Given the description of an element on the screen output the (x, y) to click on. 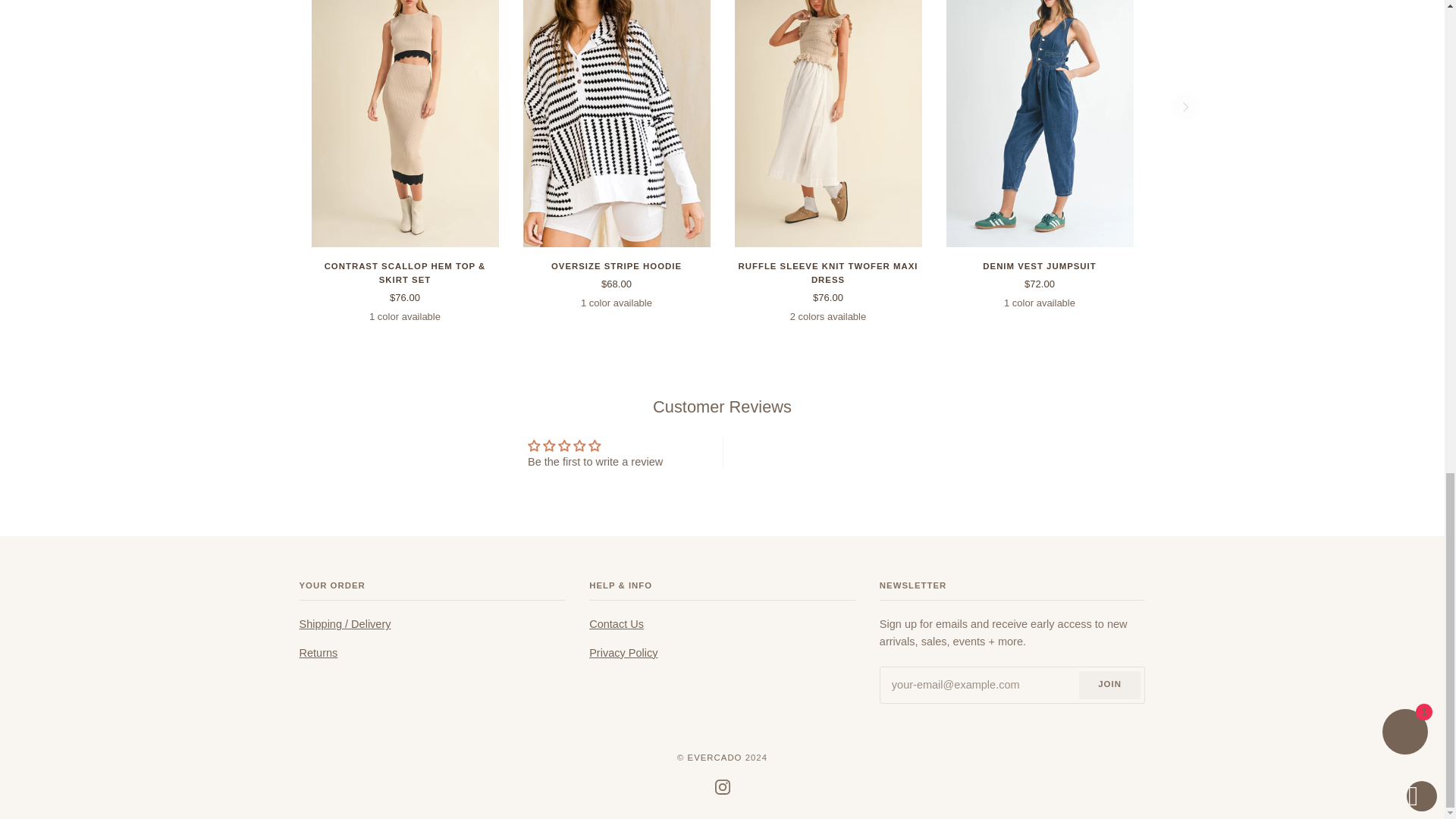
Instagram (721, 786)
PRIVACY POLICY (623, 653)
Contact Us (616, 623)
